Given the description of an element on the screen output the (x, y) to click on. 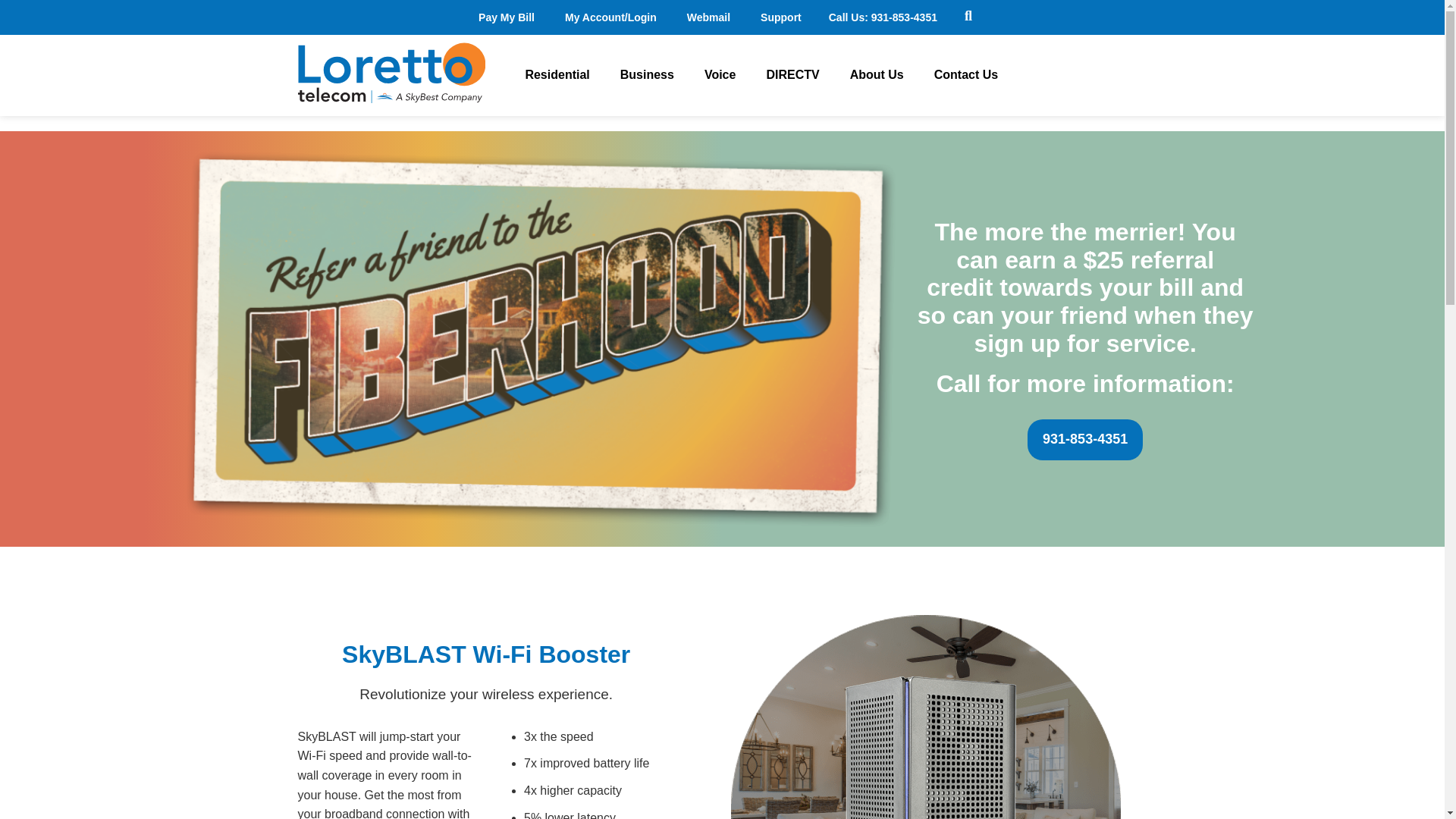
Residential (556, 74)
Pay My Bill (506, 17)
931-853-4351 (1084, 439)
DIRECTV (792, 74)
About Us (876, 74)
Voice (719, 74)
Business (646, 74)
Contact Us (965, 74)
Support (780, 17)
931-853-4351 (903, 17)
Webmail (708, 17)
